Given the description of an element on the screen output the (x, y) to click on. 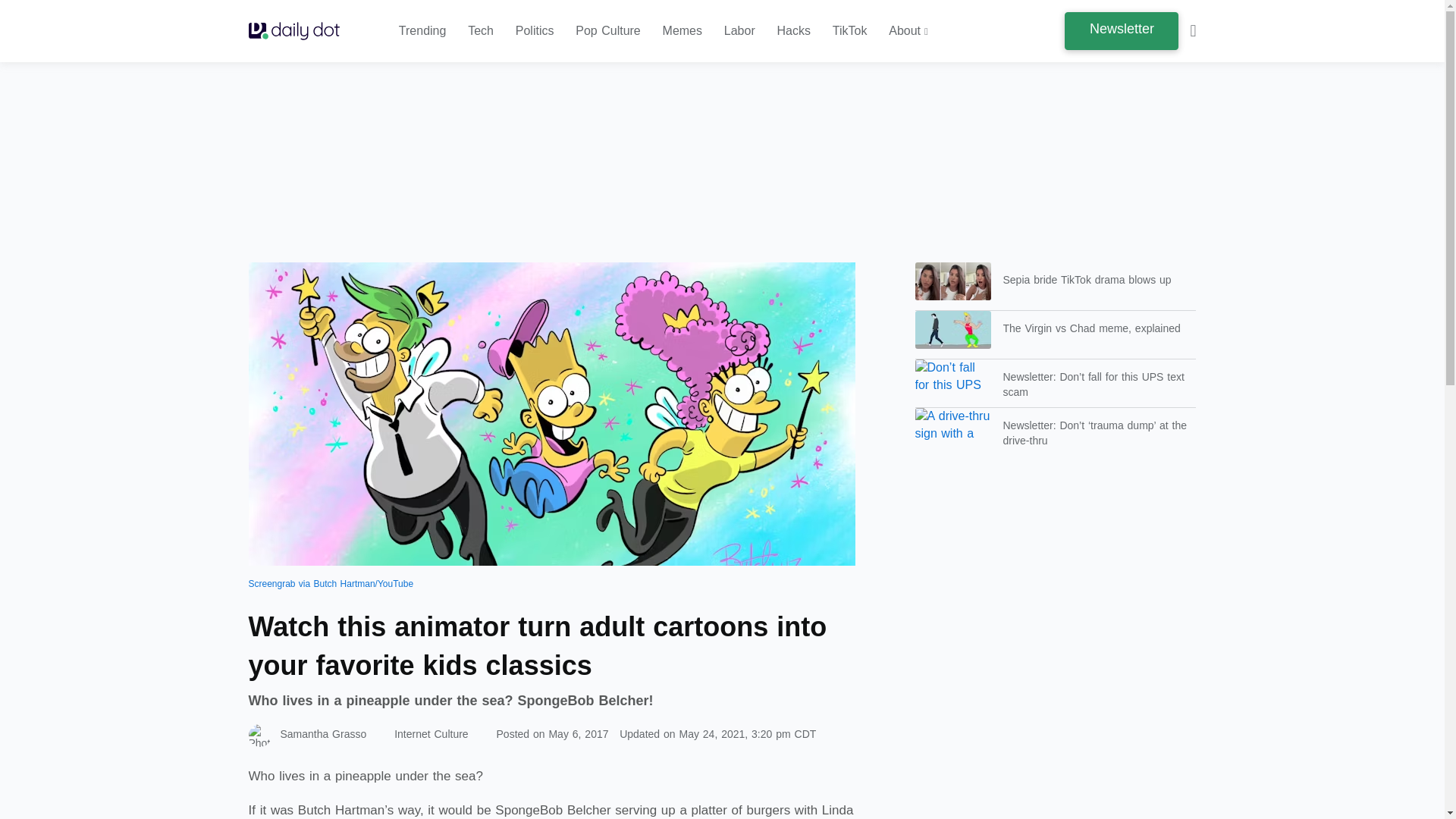
Pop Culture (607, 31)
Memes (681, 31)
Tech (480, 31)
Politics (534, 31)
TikTok (849, 31)
Hacks (793, 31)
About (908, 31)
Trending (422, 31)
Labor (739, 31)
Newsletter (1120, 30)
